Given the description of an element on the screen output the (x, y) to click on. 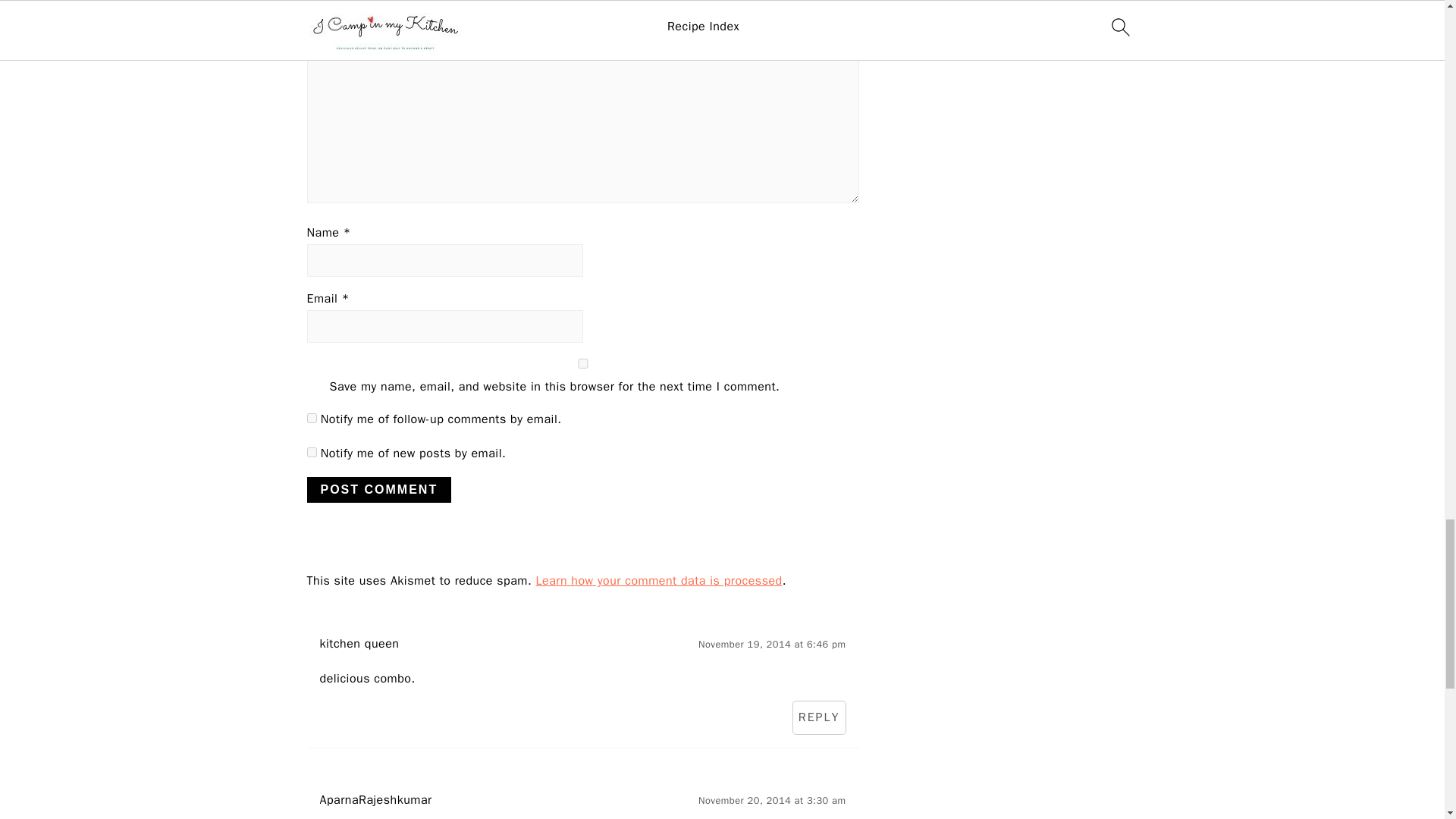
subscribe (310, 418)
yes (582, 363)
Post Comment (378, 489)
subscribe (310, 452)
